Given the description of an element on the screen output the (x, y) to click on. 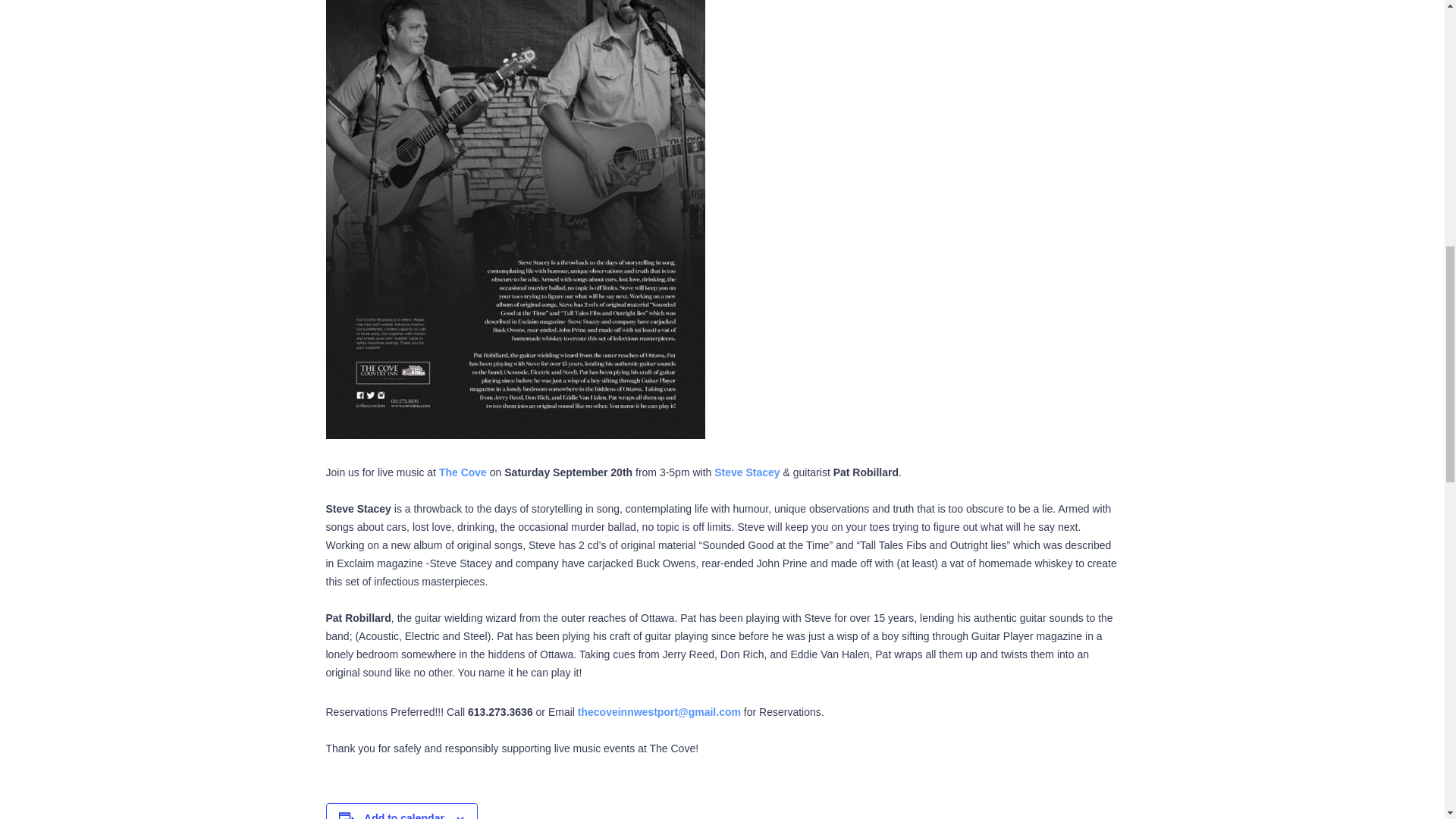
 The Cove (460, 472)
Steve Stacey (746, 472)
Add to calendar (404, 815)
